Given the description of an element on the screen output the (x, y) to click on. 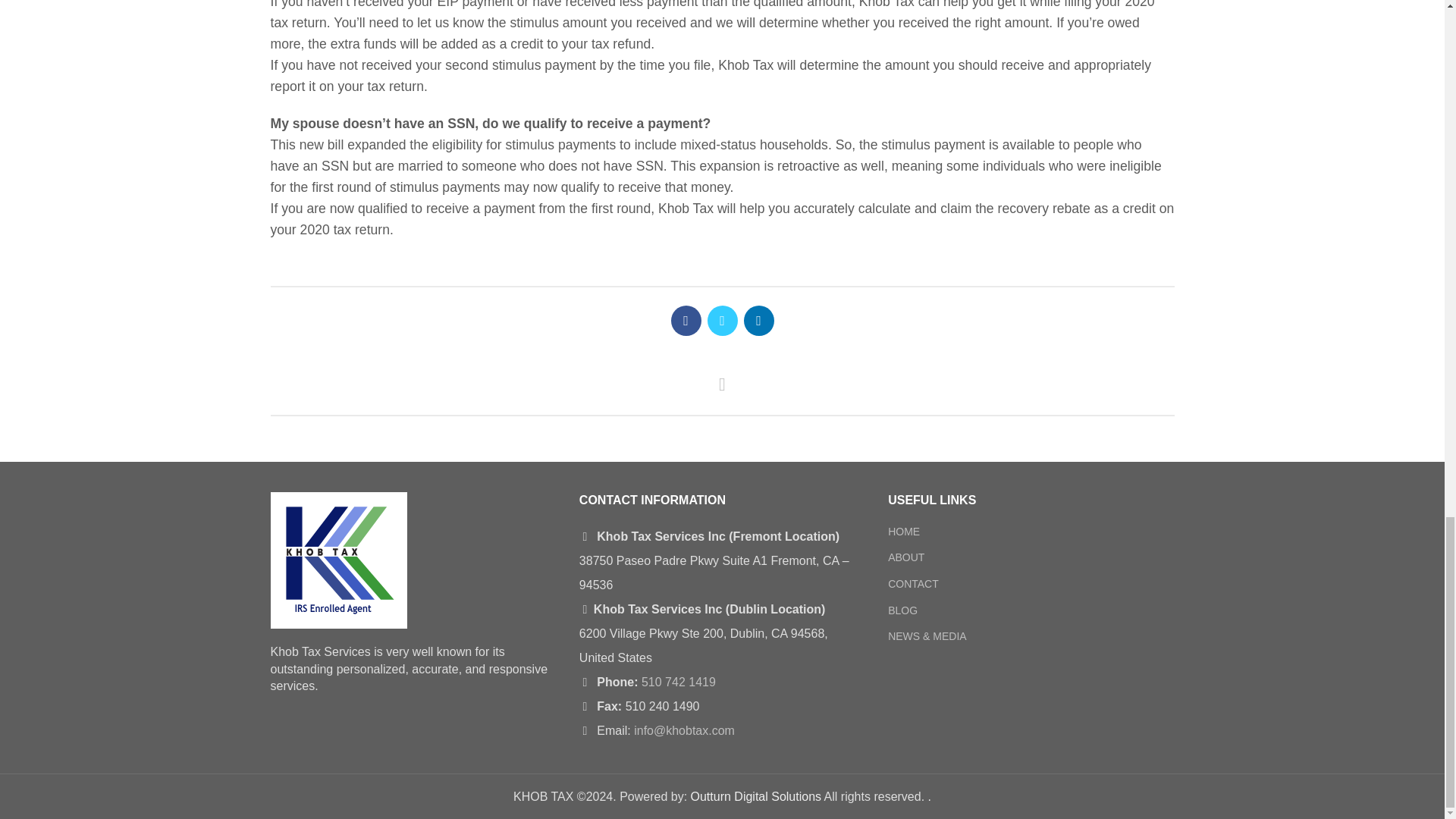
Twitter (721, 320)
linkedin (757, 320)
Facebook (684, 320)
